Given the description of an element on the screen output the (x, y) to click on. 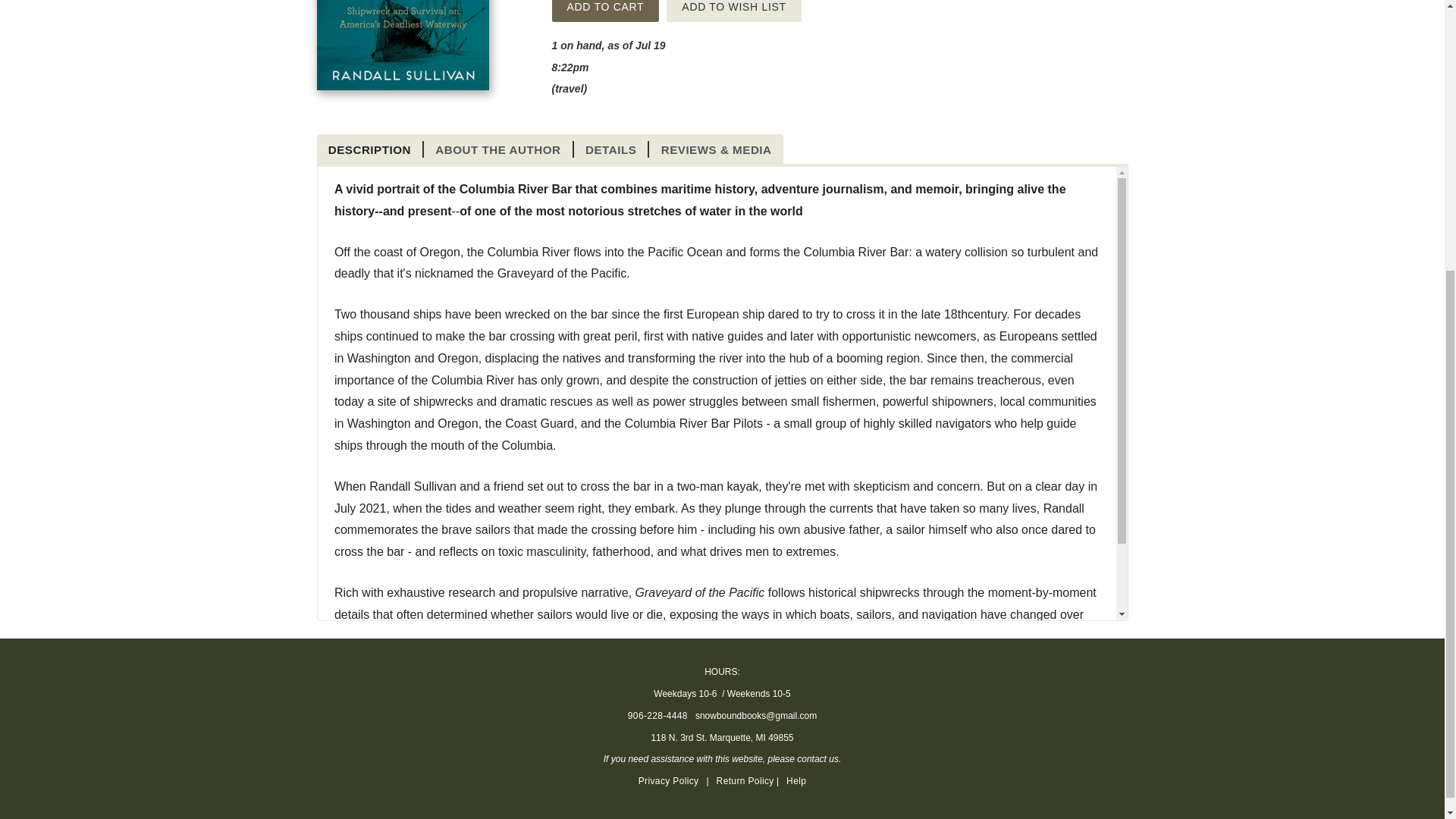
Add to Cart (605, 11)
